Given the description of an element on the screen output the (x, y) to click on. 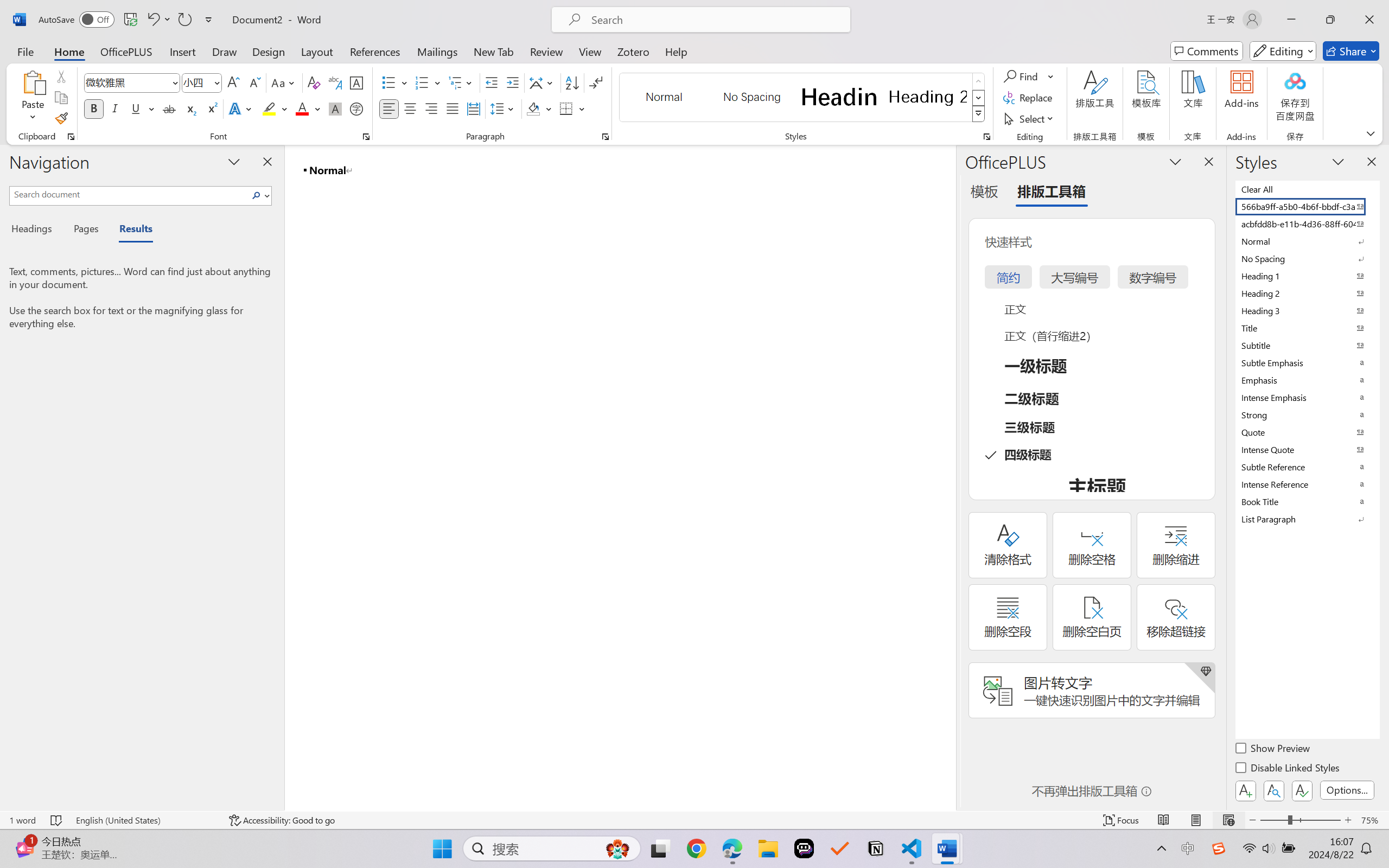
Decrease Indent (491, 82)
Subtle Reference (1306, 466)
Home (69, 51)
Heading 2 (927, 96)
Justify (452, 108)
Strong (1306, 414)
Show Preview (1273, 749)
Shading RGB(0, 0, 0) (533, 108)
List Paragraph (1306, 518)
